Given the description of an element on the screen output the (x, y) to click on. 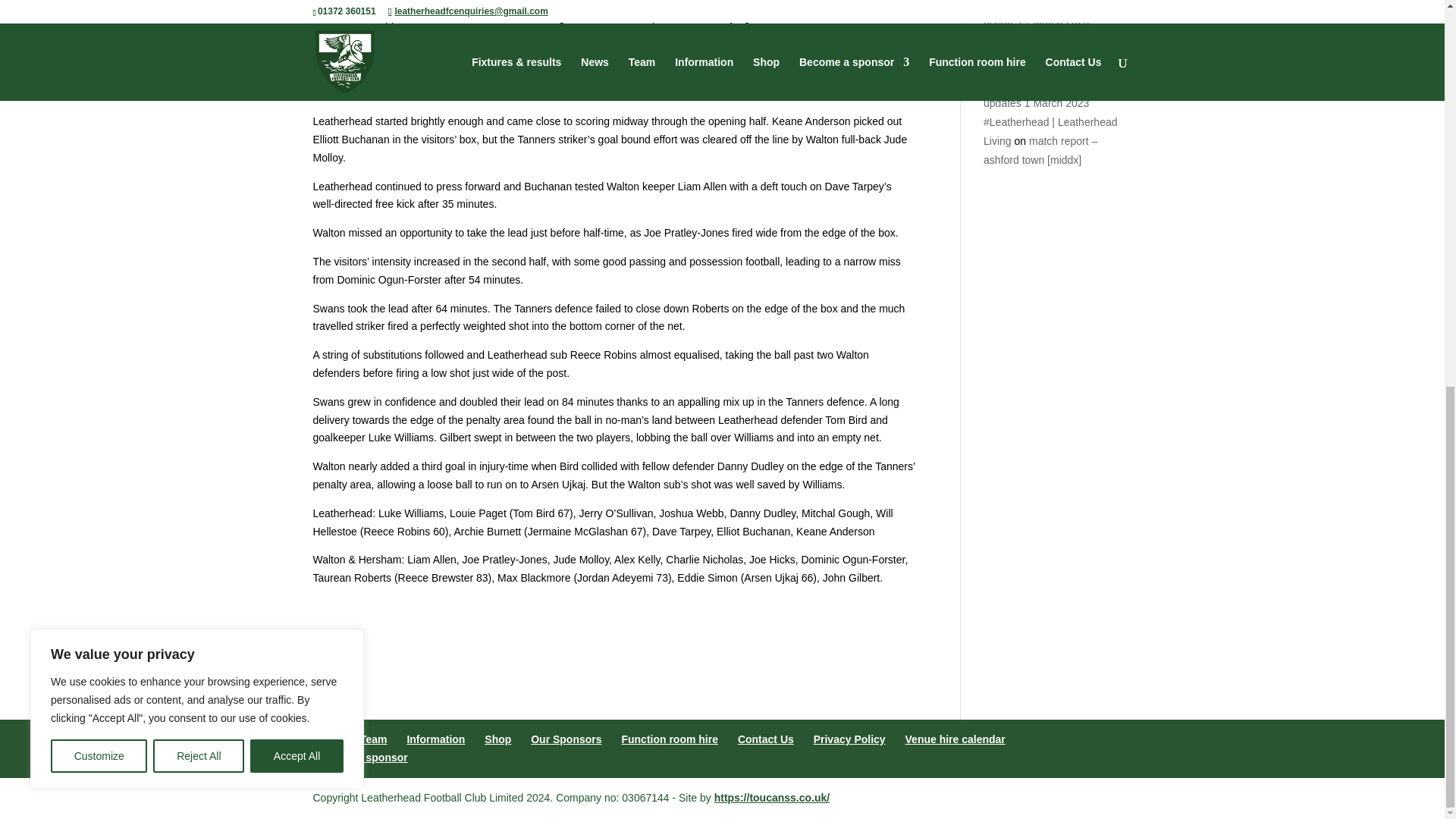
Customize (98, 25)
Accept All (296, 25)
Reject All (198, 25)
